Given the description of an element on the screen output the (x, y) to click on. 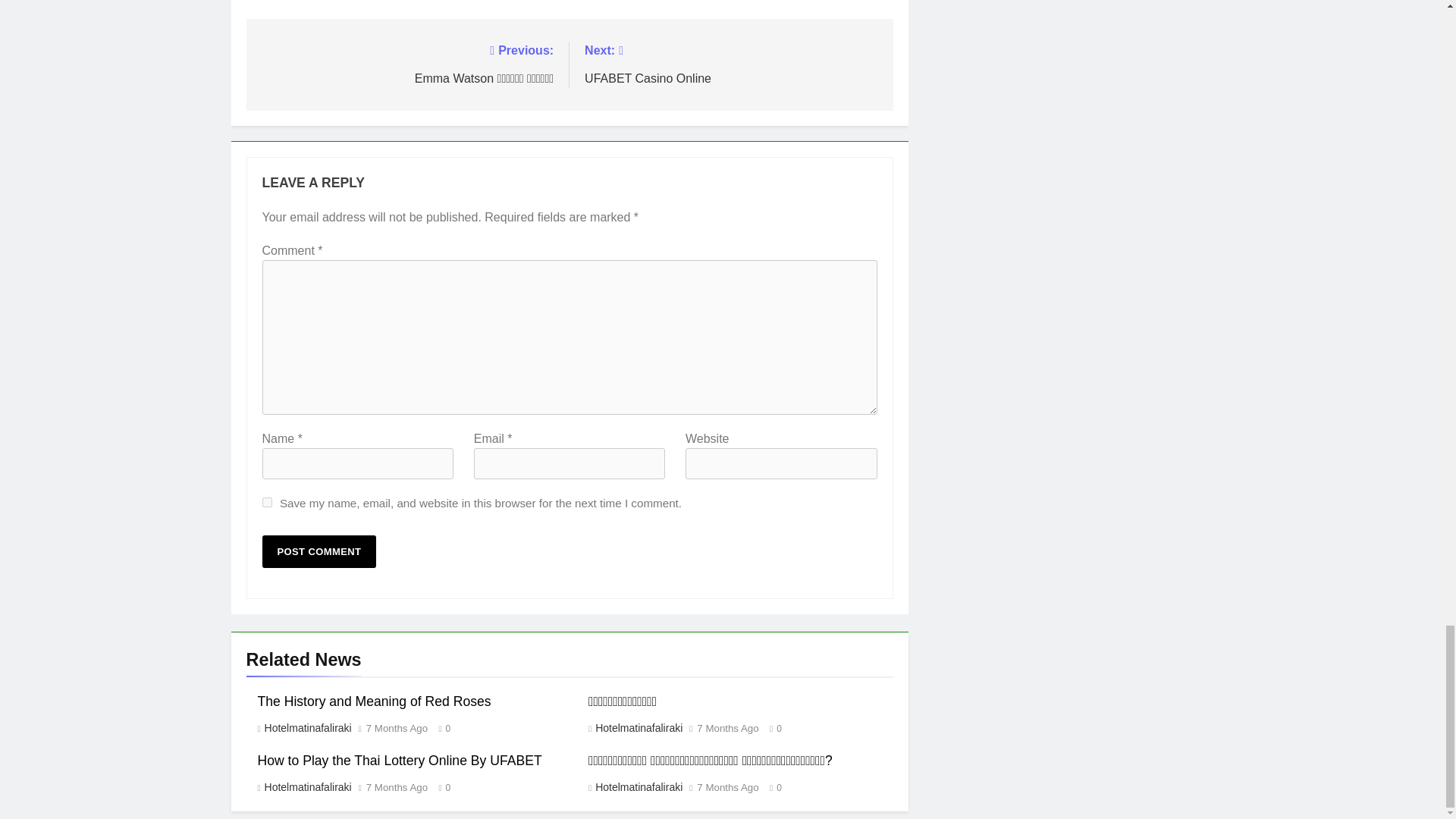
0 (771, 786)
0 (440, 786)
7 Months Ago (727, 728)
How to Play the Thai Lottery Online By UFABET (399, 760)
Hotelmatinafaliraki (306, 727)
Post Comment (319, 551)
Hotelmatinafaliraki (637, 787)
Hotelmatinafaliraki (637, 727)
yes (267, 501)
7 Months Ago (397, 787)
